Given the description of an element on the screen output the (x, y) to click on. 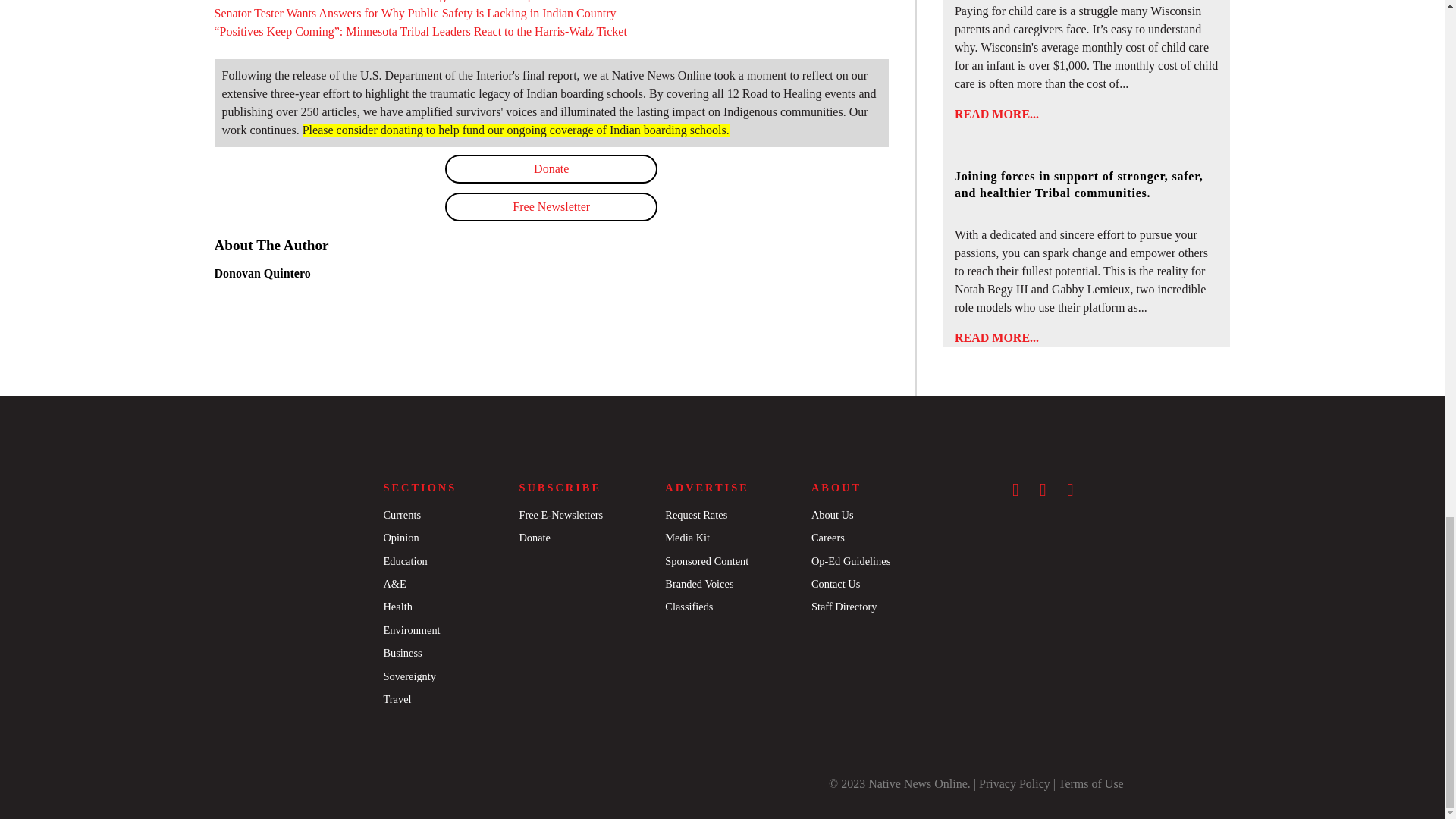
Branded Voices (699, 583)
Currents (401, 514)
Donate (551, 168)
Opinion (400, 537)
Sovereignty (408, 676)
Media Kit (687, 537)
Environment (410, 630)
Education (404, 561)
Classifieds (689, 606)
